Given the description of an element on the screen output the (x, y) to click on. 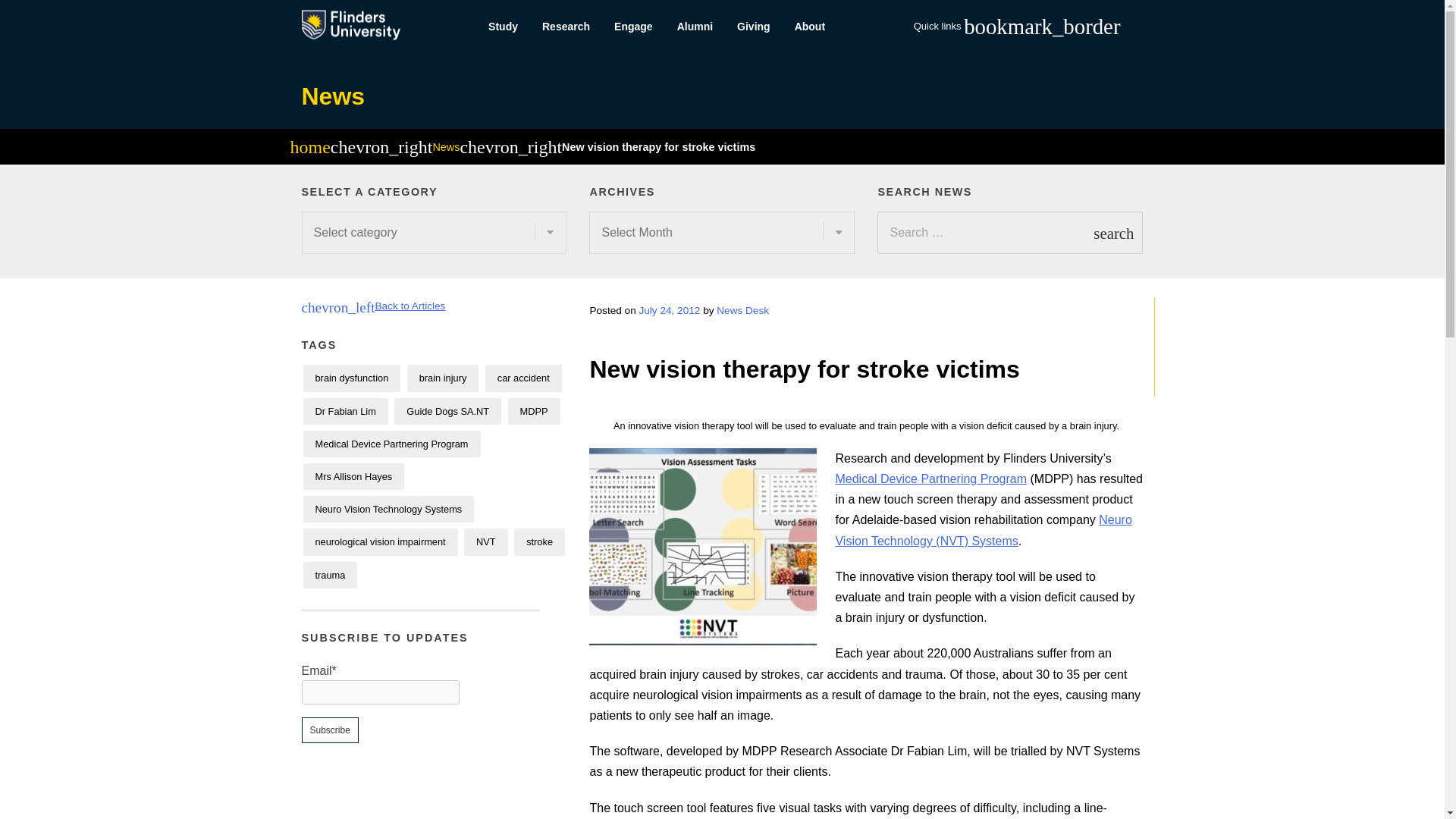
MDPP (534, 411)
NVT (486, 541)
Mrs Allison Hayes (353, 476)
Research (565, 26)
neurological vision impairment (380, 541)
News (446, 146)
trauma (330, 574)
car accident (523, 377)
About (810, 26)
July 24, 2012 (669, 310)
